Given the description of an element on the screen output the (x, y) to click on. 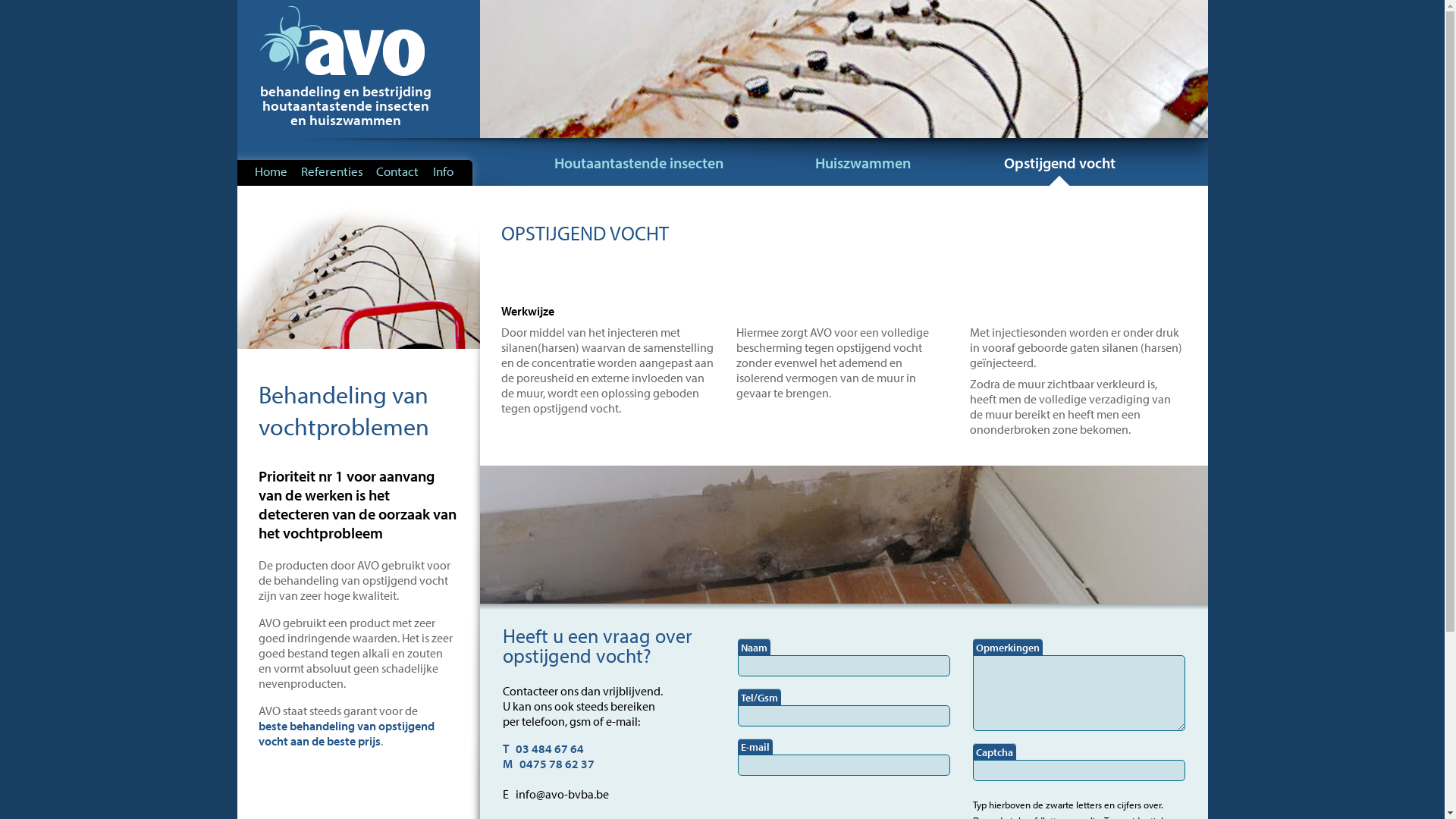
Huiszwammen Element type: text (862, 162)
Contact Element type: text (397, 170)
Verzenden Element type: text (39, 10)
Home Element type: text (270, 170)
Houtaantastende insecten Element type: text (638, 162)
Referenties Element type: text (331, 170)
Info Element type: text (443, 170)
